Given the description of an element on the screen output the (x, y) to click on. 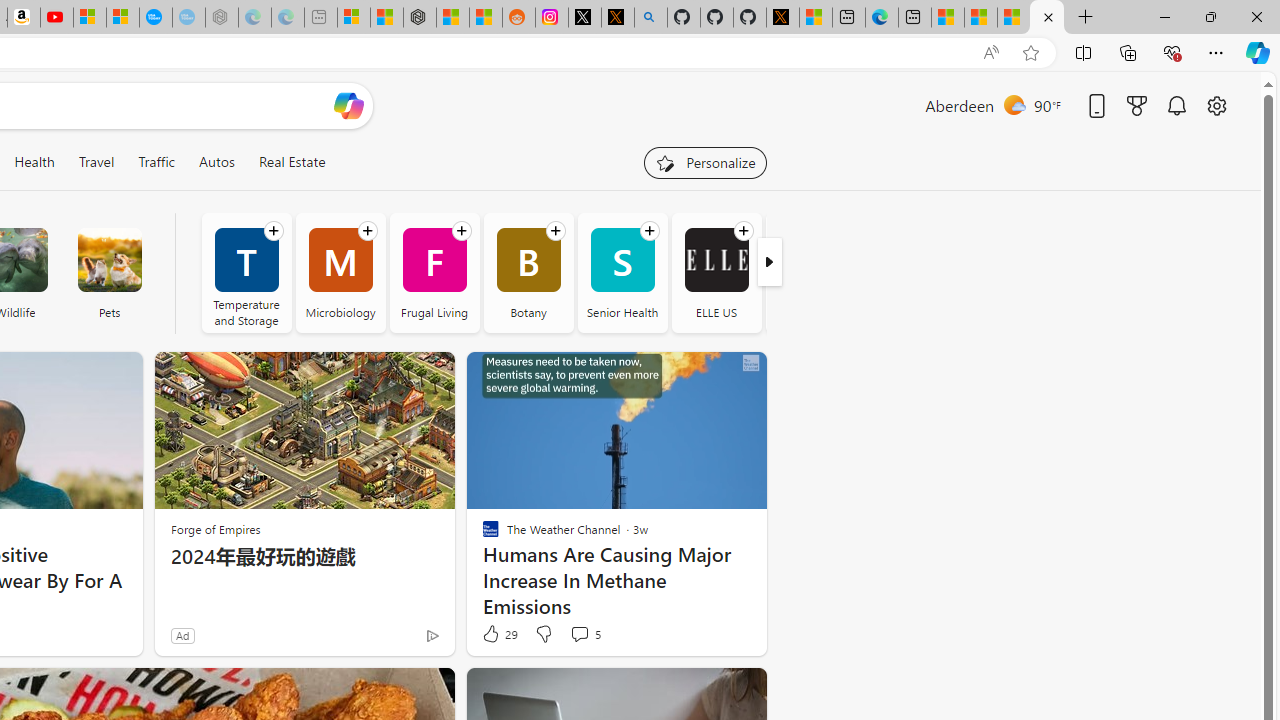
Personalize your feed" (704, 162)
Frugal Living (434, 272)
Welcome to Microsoft Edge (882, 17)
Pets (109, 272)
Microsoft rewards (1137, 105)
Health (34, 161)
29 Like (499, 633)
